Given the description of an element on the screen output the (x, y) to click on. 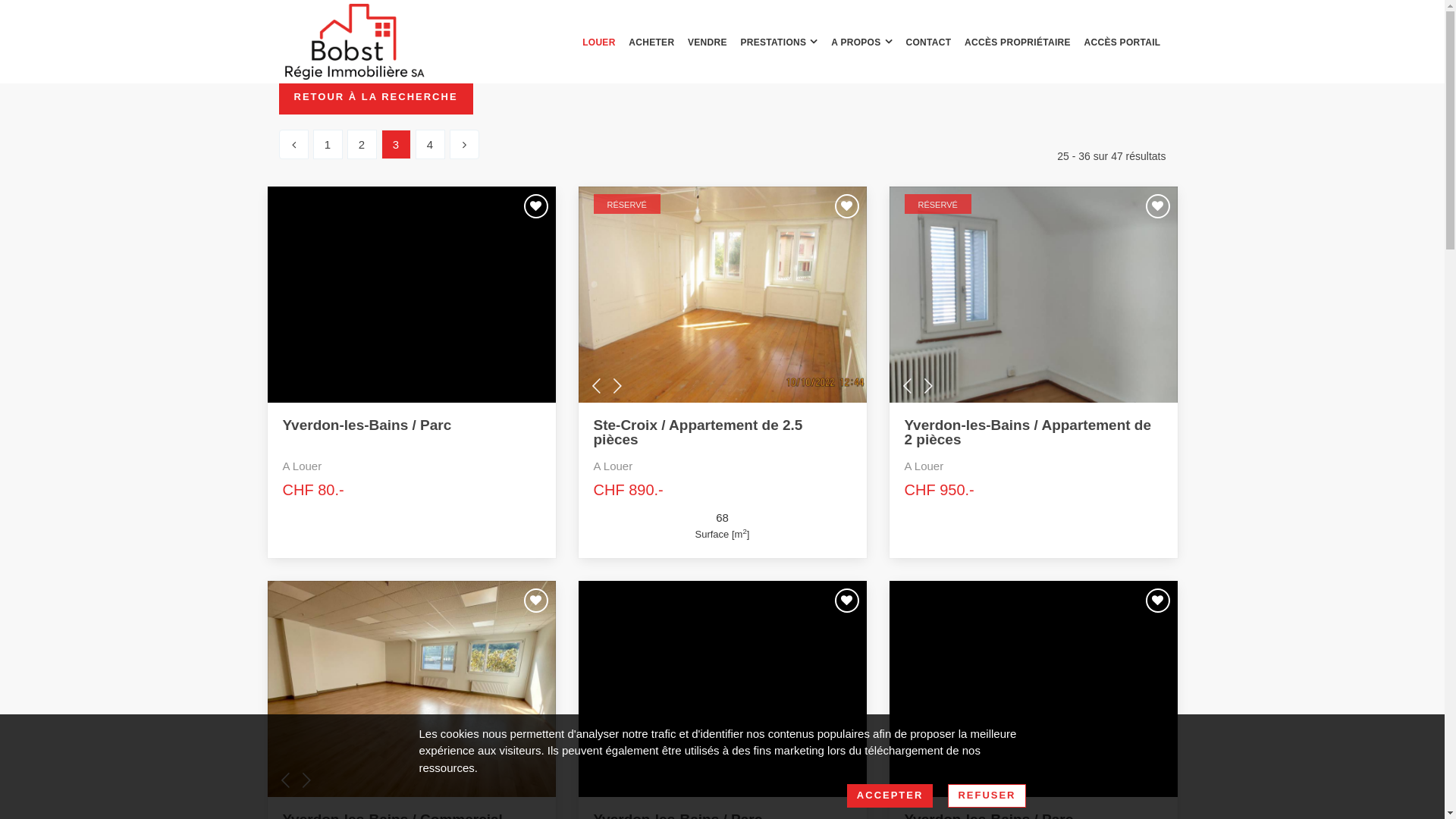
2 Element type: text (361, 144)
ACHETER Element type: text (651, 42)
4 Element type: text (430, 144)
Yverdon-les-Bains / Parc
A Louer
CHF 80.- Element type: text (410, 457)
3 Element type: text (395, 144)
A PROPOS Element type: text (861, 42)
REFUSER Element type: text (986, 795)
ACCEPTER Element type: text (890, 795)
VENDRE Element type: text (707, 42)
PRESTATIONS Element type: text (778, 42)
LOUER Element type: text (599, 42)
CONTACT Element type: text (928, 42)
1 Element type: text (327, 144)
